Given the description of an element on the screen output the (x, y) to click on. 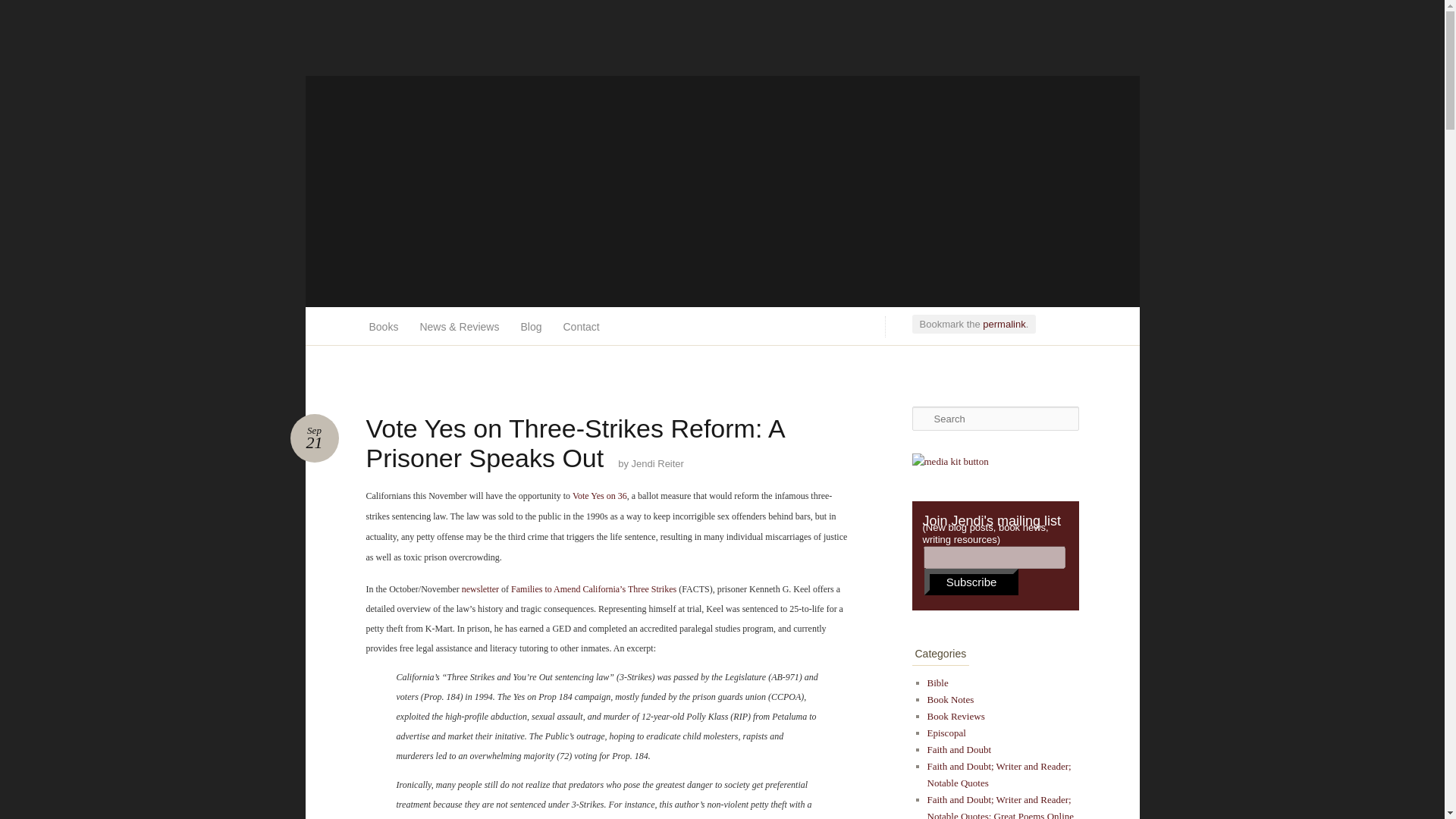
Subscribe (971, 581)
Contact (580, 326)
Books (383, 326)
Faith and Doubt (958, 749)
Blog (530, 326)
permalink (1003, 324)
